Given the description of an element on the screen output the (x, y) to click on. 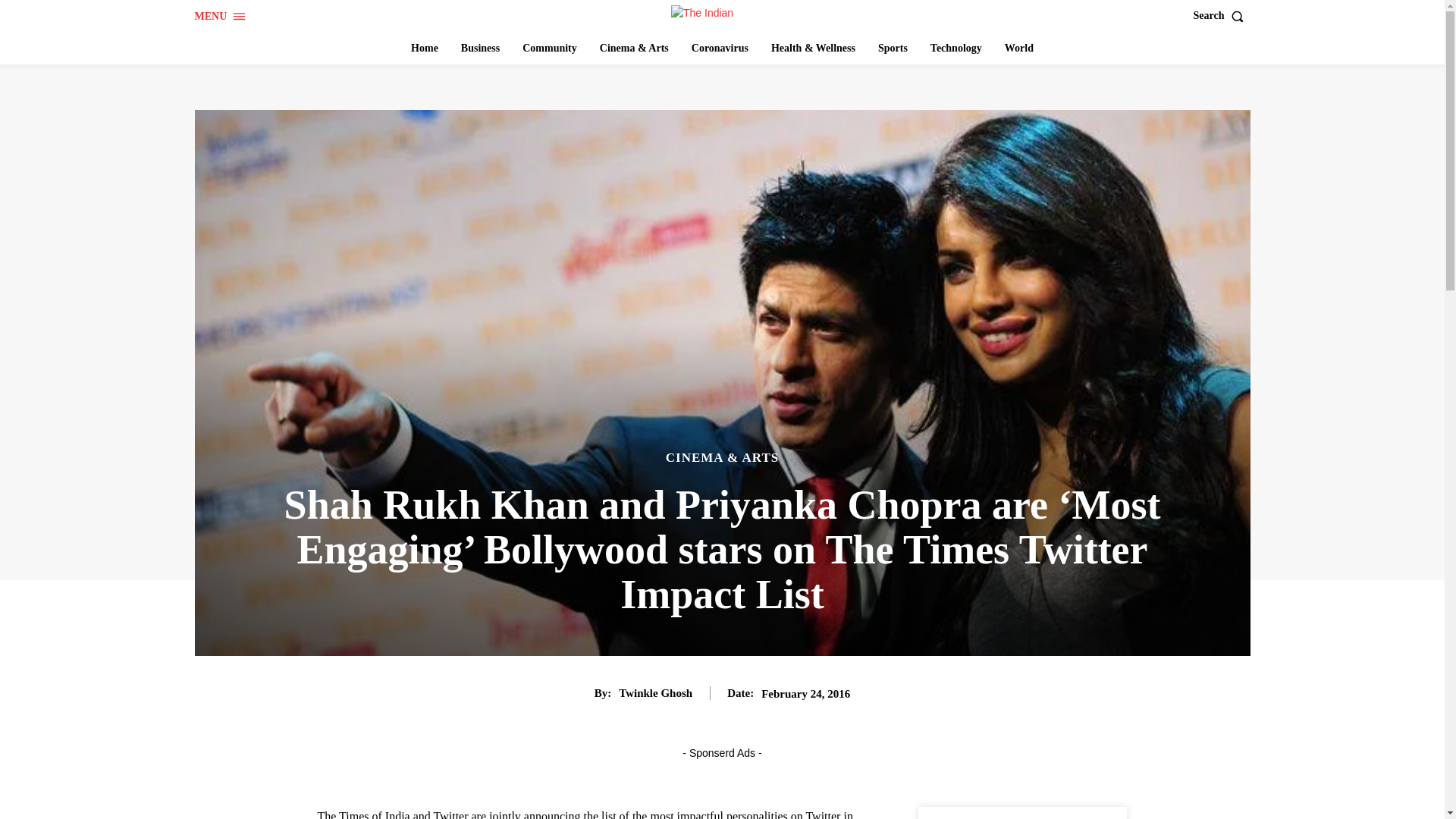
Sports (892, 48)
Technology (956, 48)
Coronavirus (719, 48)
Home (424, 48)
Search (1221, 15)
Business (479, 48)
World (1019, 48)
Community (550, 48)
The Indian Telegraph (724, 13)
MENU (219, 16)
